Given the description of an element on the screen output the (x, y) to click on. 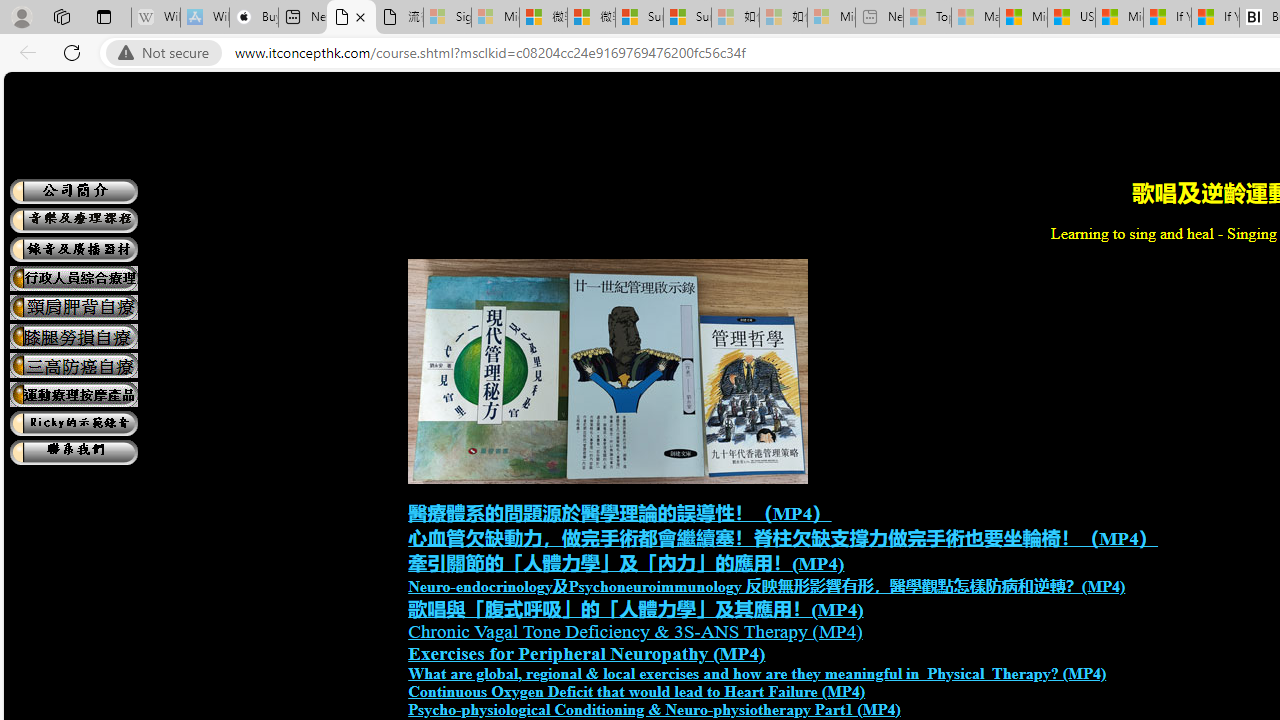
New tab - Sleeping (879, 17)
Microsoft account | Account Checkup - Sleeping (831, 17)
Sign in to your Microsoft account - Sleeping (447, 17)
Microsoft Services Agreement - Sleeping (495, 17)
US Heat Deaths Soared To Record High Last Year (1071, 17)
